Given the description of an element on the screen output the (x, y) to click on. 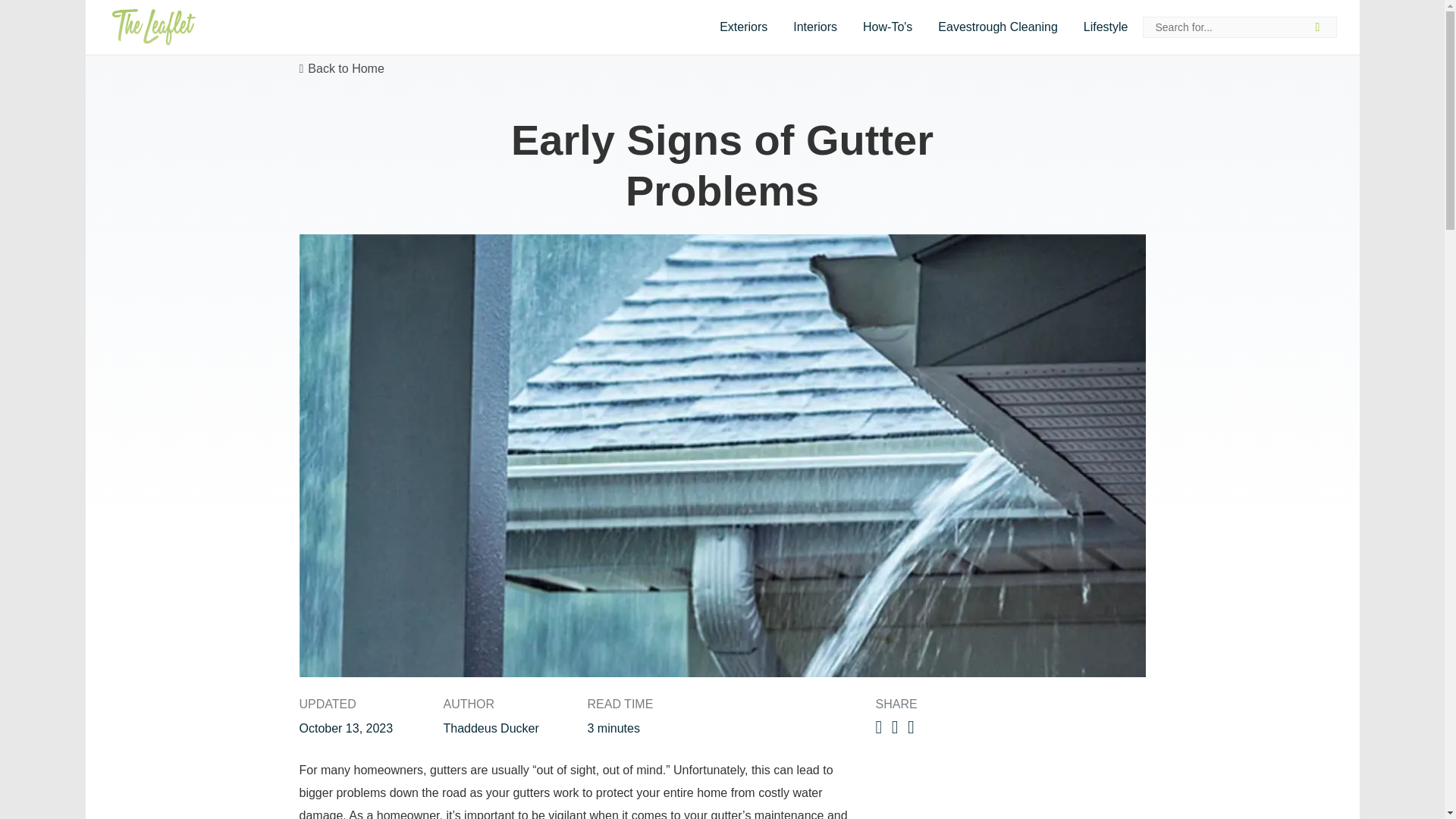
Eavestrough Cleaning (997, 27)
Interiors (814, 27)
How-To's (887, 27)
Search (1321, 26)
Lifestyle (1105, 27)
Interiors (814, 27)
How-To's (887, 27)
Exteriors (742, 27)
Search (1321, 26)
Back to Home (341, 68)
